Given the description of an element on the screen output the (x, y) to click on. 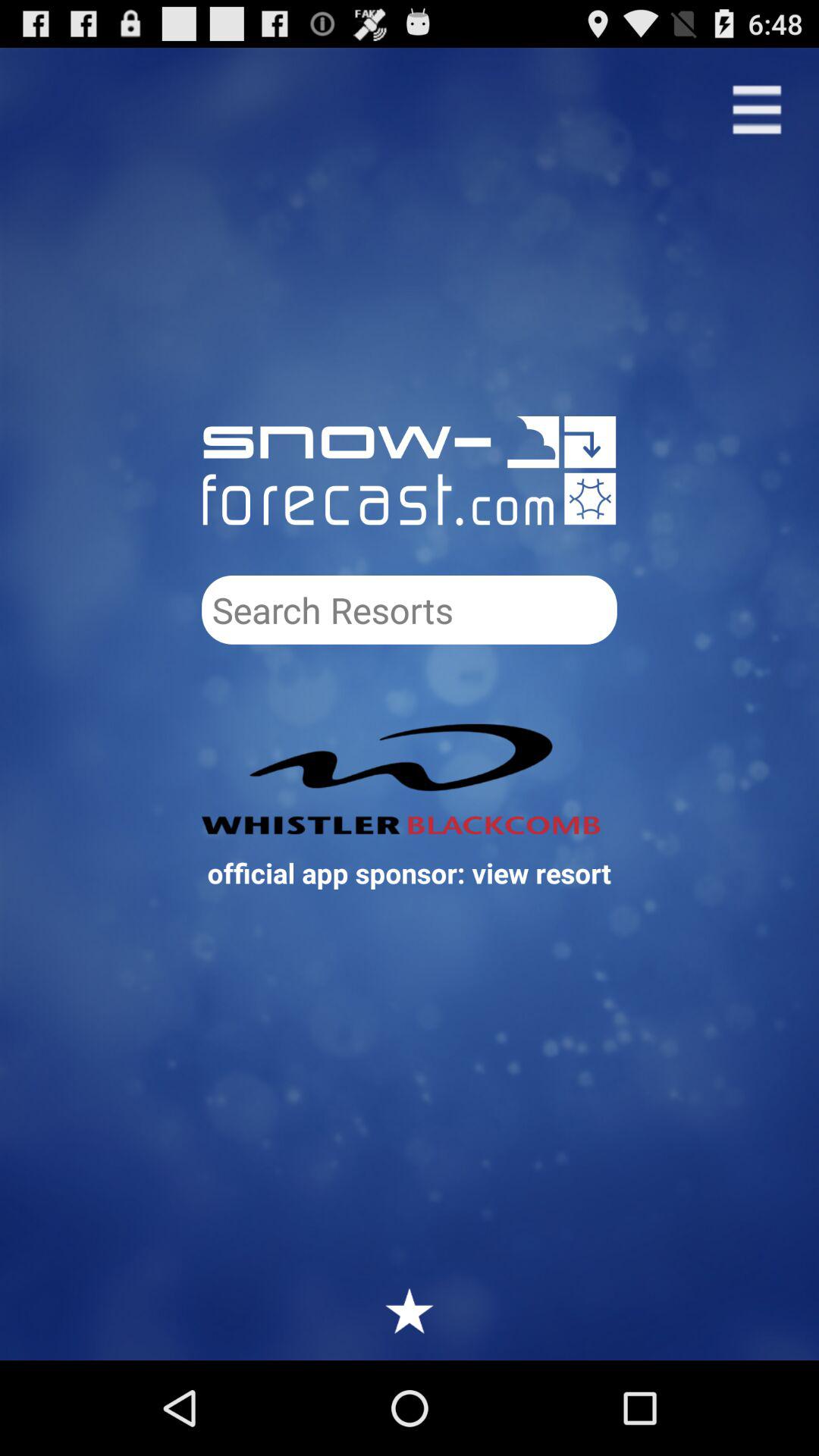
search resorts (409, 609)
